Given the description of an element on the screen output the (x, y) to click on. 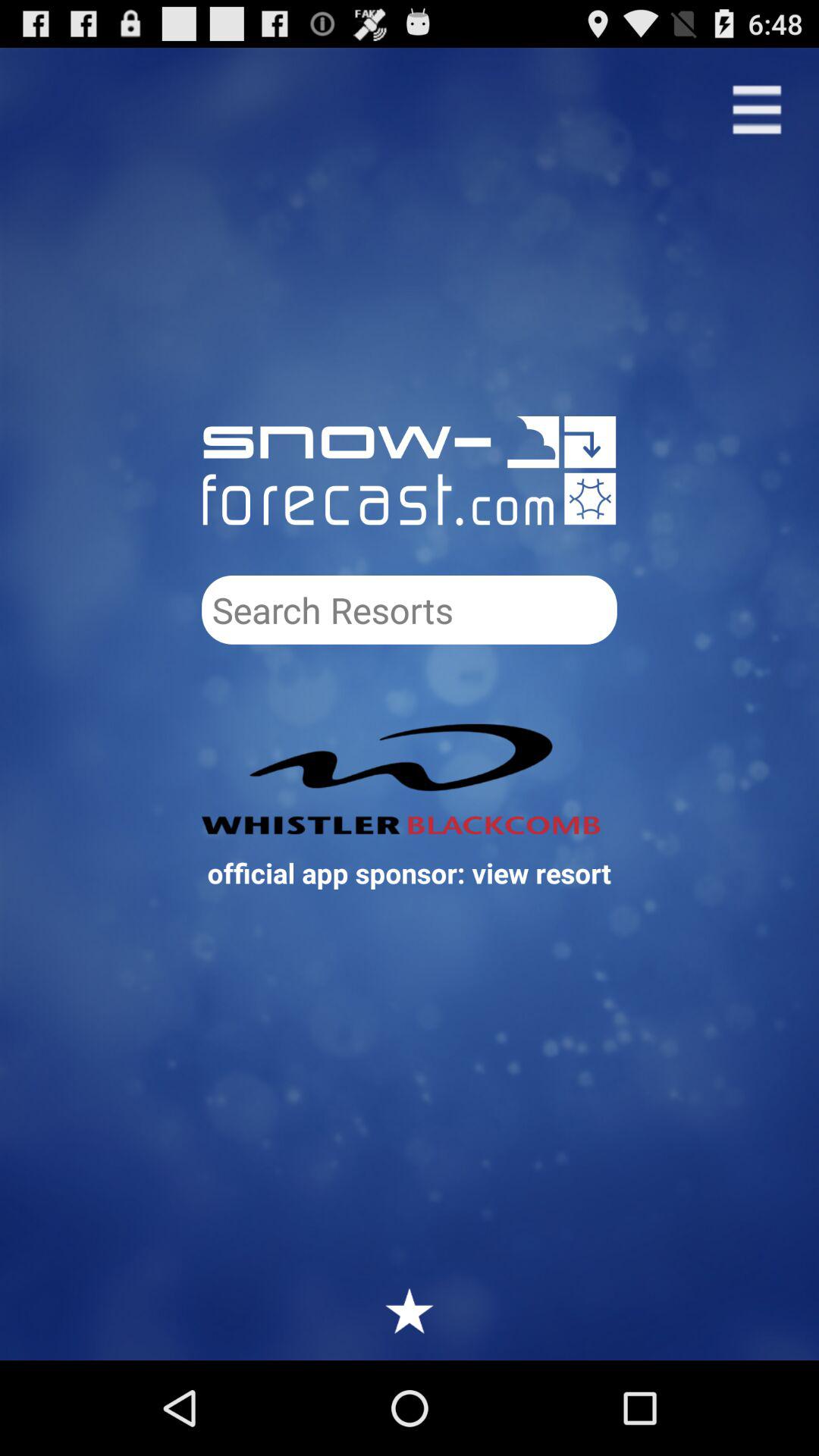
search resorts (409, 609)
